Given the description of an element on the screen output the (x, y) to click on. 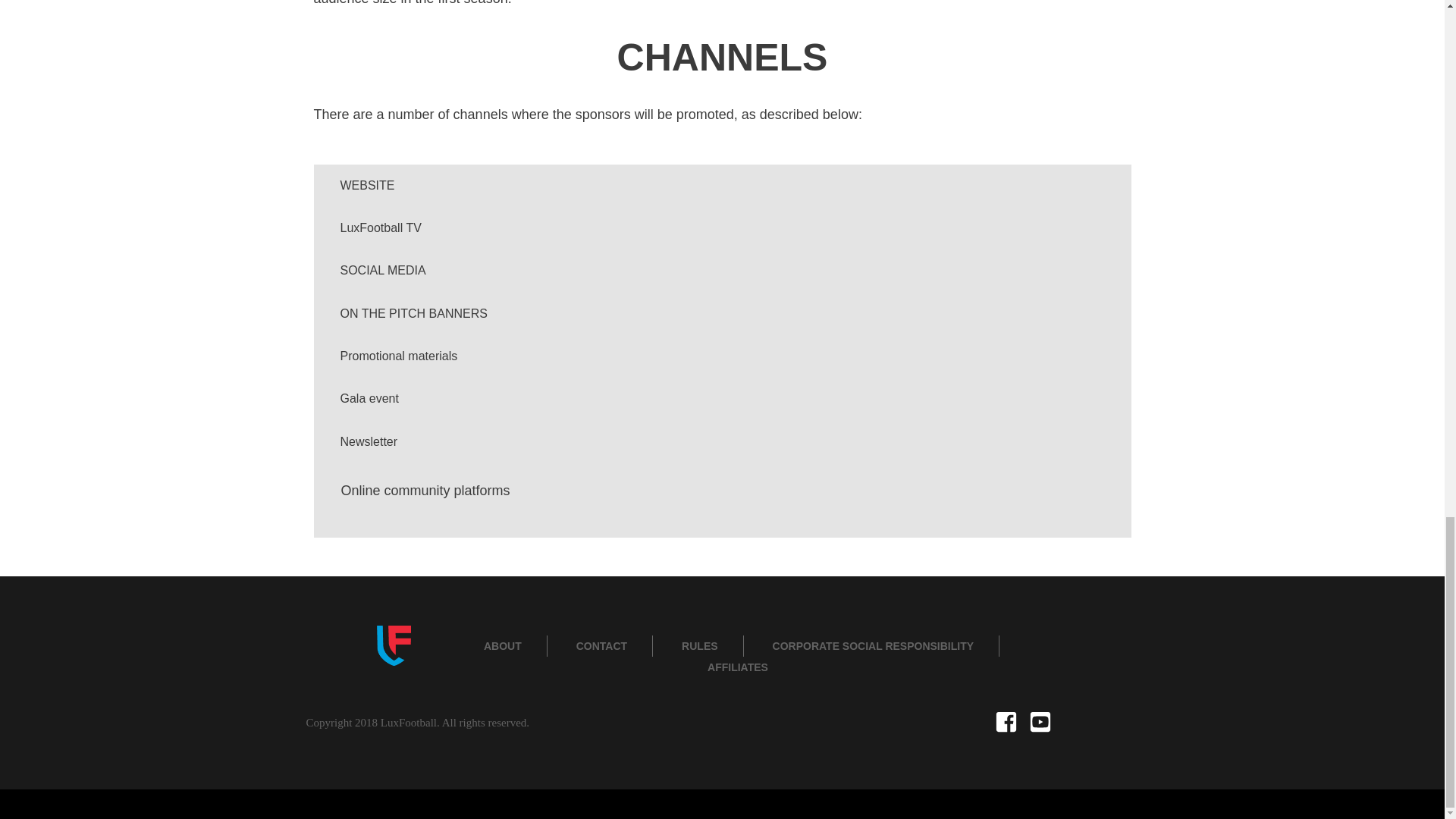
CONTACT (601, 645)
RULES (699, 645)
AFFILIATES (737, 667)
ABOUT (502, 645)
CORPORATE SOCIAL RESPONSIBILITY (873, 645)
